Given the description of an element on the screen output the (x, y) to click on. 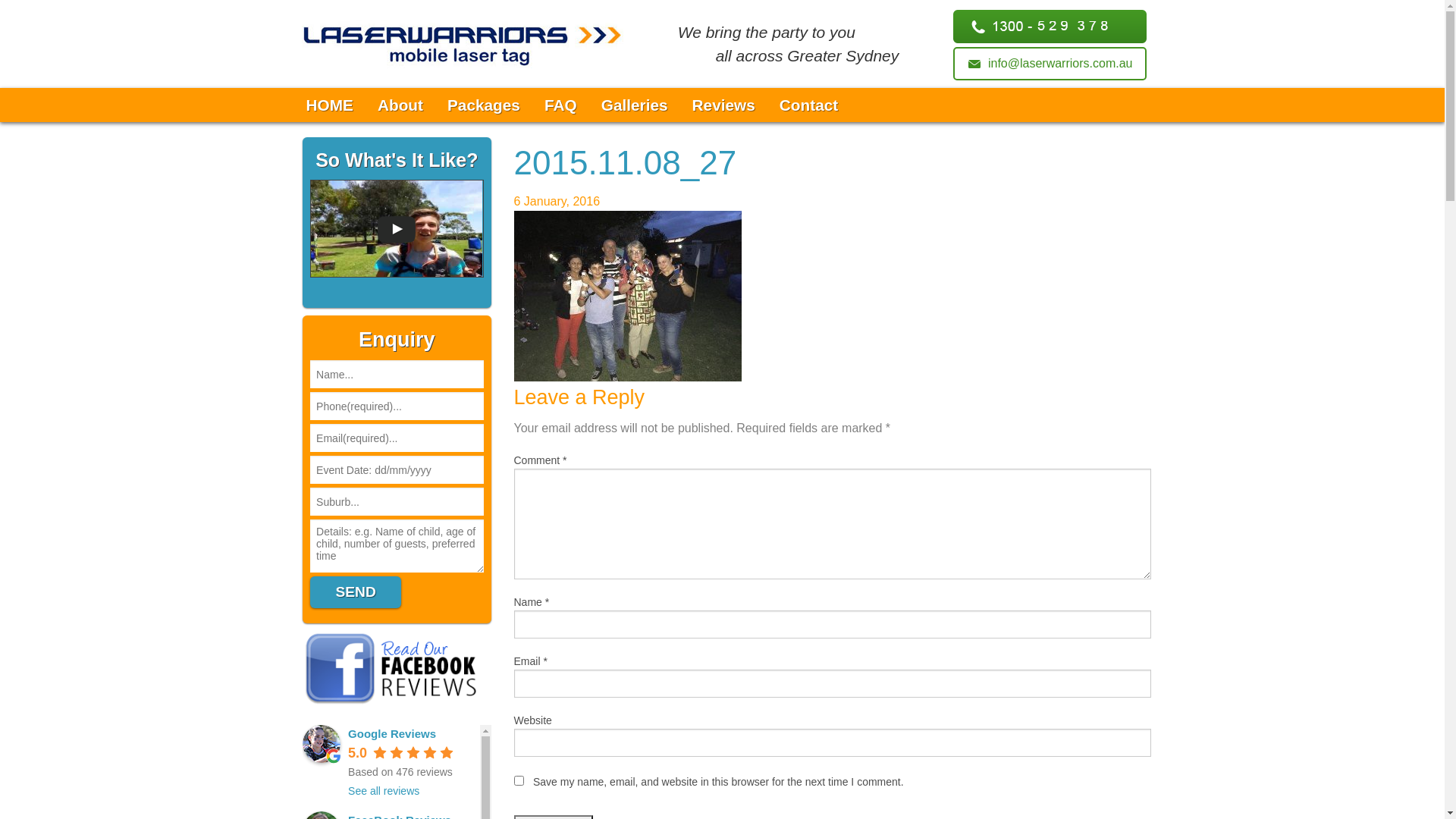
Google Reviews Element type: text (392, 733)
About Element type: text (400, 104)
Galleries Element type: text (634, 104)
Google Reviews Element type: hover (321, 743)
HOME Element type: text (329, 104)
See all reviews Element type: text (383, 790)
info@laserwarriors.com.au Element type: text (1049, 63)
Packages Element type: text (483, 104)
Reviews Element type: text (723, 104)
FAQ Element type: text (560, 104)
SEND Element type: text (355, 592)
The Best Mobile Laser Tag Parties for Kids In Sydney! Element type: hover (462, 42)
Contact Element type: text (808, 104)
